Given the description of an element on the screen output the (x, y) to click on. 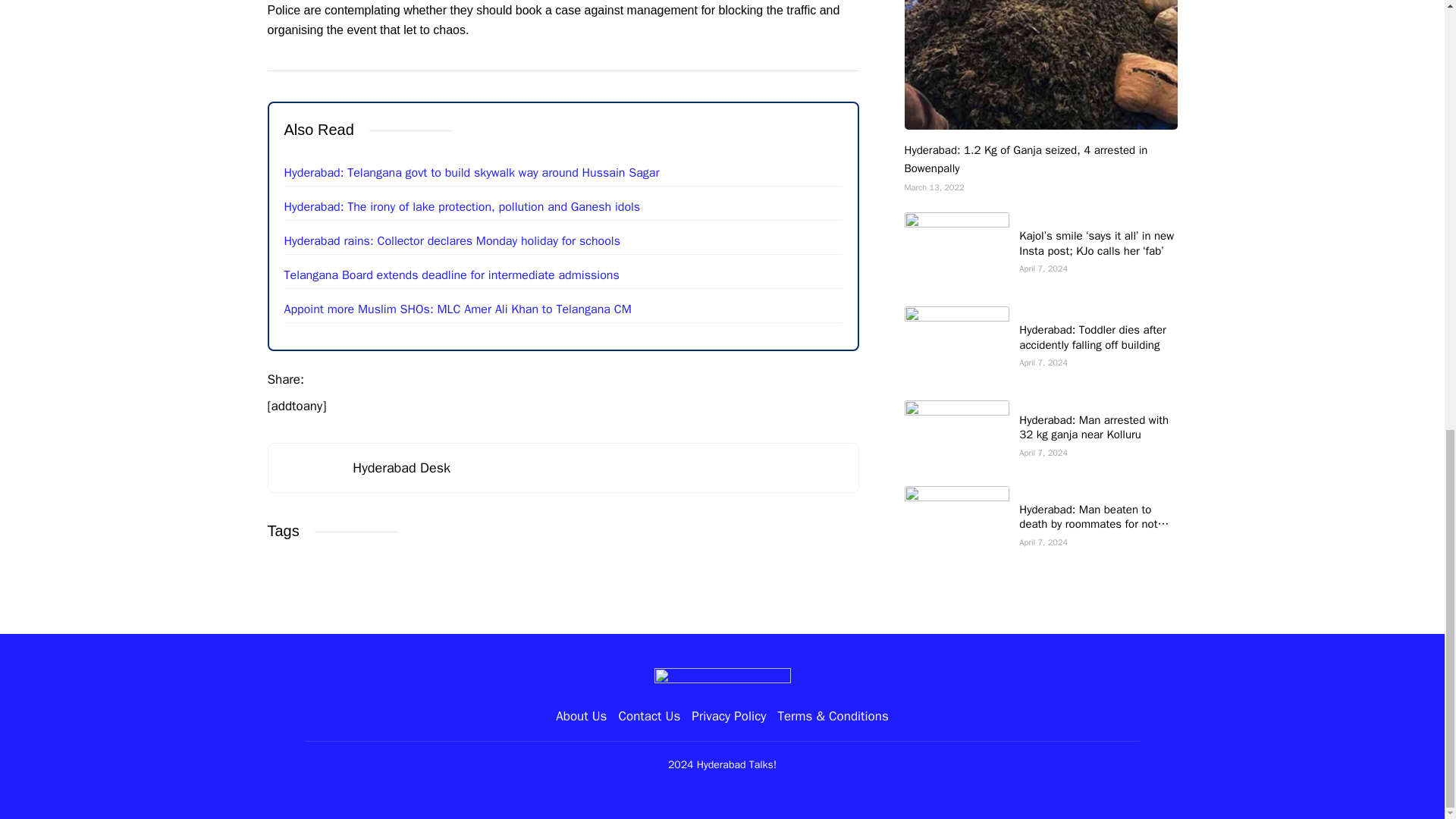
Hyderabad Desk (400, 467)
Privacy Policy (728, 716)
Appoint more Muslim SHOs: MLC Amer Ali Khan to Telangana CM (456, 309)
Contact Us (648, 716)
Telangana Board extends deadline for intermediate admissions (450, 274)
cropped-hyd-talks-white-h65.png (721, 681)
About Us (581, 716)
